Given the description of an element on the screen output the (x, y) to click on. 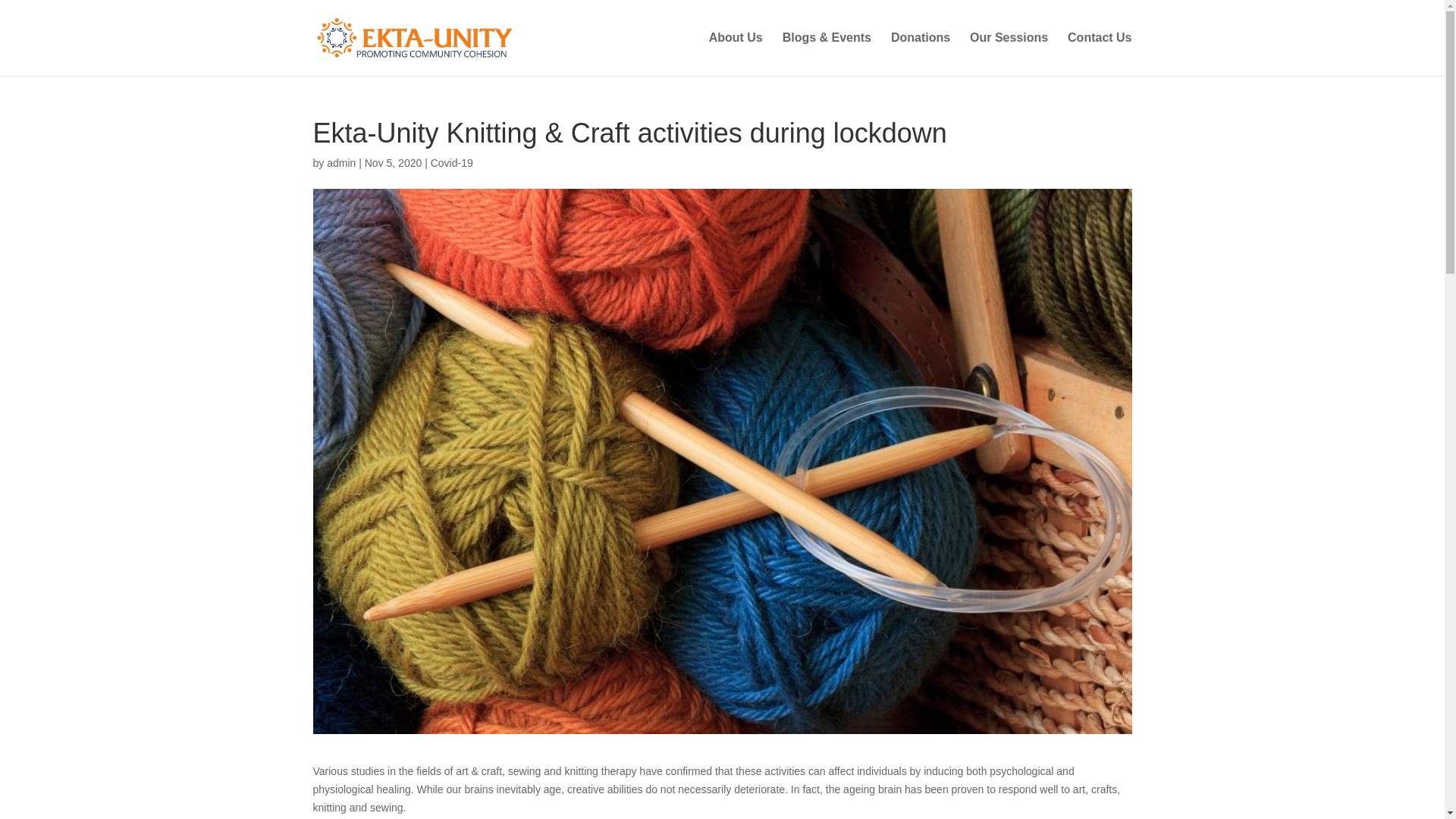
admin (340, 162)
Contact Us (1099, 54)
Covid-19 (451, 162)
Our Sessions (1008, 54)
About Us (735, 54)
Donations (920, 54)
Posts by admin (340, 162)
